Given the description of an element on the screen output the (x, y) to click on. 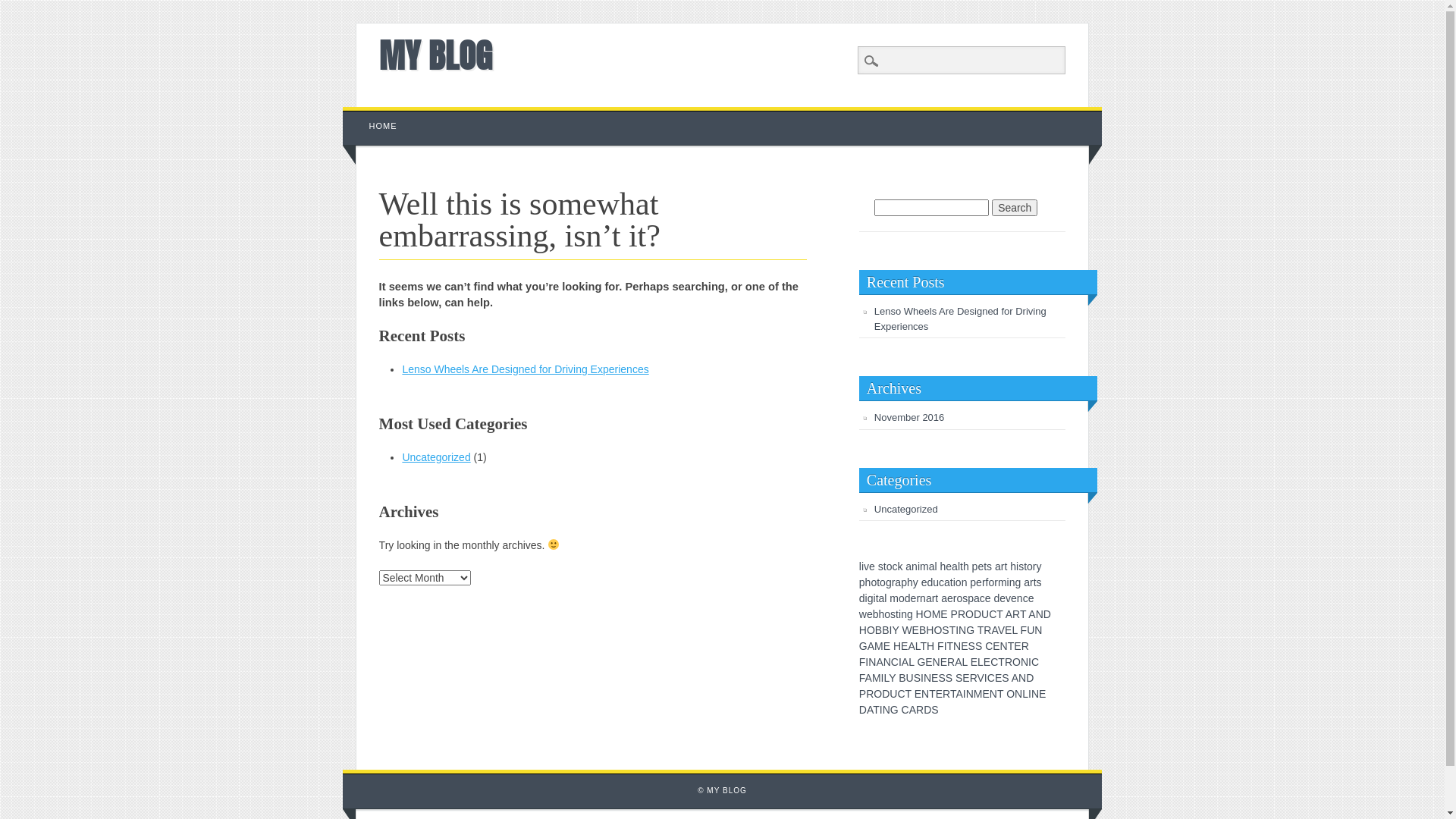
g Element type: text (888, 582)
P Element type: text (862, 693)
F Element type: text (862, 677)
M Element type: text (878, 646)
S Element type: text (948, 677)
r Element type: text (1031, 582)
l Element type: text (935, 566)
E Element type: text (943, 661)
R Element type: text (987, 630)
A Element type: text (904, 661)
E Element type: text (1007, 630)
r Element type: text (955, 598)
g Element type: text (1018, 582)
a Element type: text (997, 566)
A Element type: text (958, 693)
s Element type: text (988, 566)
F Element type: text (940, 646)
N Element type: text (1003, 646)
S Element type: text (916, 677)
e Element type: text (1031, 598)
s Element type: text (1038, 582)
Uncategorized Element type: text (906, 508)
T Element type: text (1000, 661)
A Element type: text (912, 709)
a Element type: text (928, 598)
G Element type: text (863, 646)
E Element type: text (985, 693)
B Element type: text (922, 630)
h Element type: text (881, 614)
c Element type: text (1025, 598)
U Element type: text (909, 677)
L Element type: text (885, 677)
D Element type: text (977, 614)
I Element type: text (921, 677)
I Element type: text (964, 693)
y Element type: text (915, 582)
E Element type: text (995, 646)
M Element type: text (977, 693)
C Element type: text (900, 693)
E Element type: text (917, 693)
m Element type: text (1002, 582)
c Element type: text (982, 598)
n Element type: text (903, 614)
n Element type: text (914, 566)
N Element type: text (1022, 677)
C Element type: text (905, 709)
m Element type: text (893, 598)
v Element type: text (1007, 598)
T Element type: text (953, 693)
n Element type: text (964, 582)
a Element type: text (881, 598)
w Element type: text (862, 614)
I Element type: text (1029, 661)
S Element type: text (944, 630)
e Element type: text (869, 614)
R Element type: text (1015, 614)
HOME Element type: text (383, 125)
h Element type: text (868, 582)
s Element type: text (1020, 566)
O Element type: text (927, 614)
A Element type: text (868, 677)
L Element type: text (910, 661)
MY BLOG Element type: text (435, 55)
S Element type: text (978, 646)
i Element type: text (866, 598)
t Element type: text (876, 598)
S Element type: text (1004, 677)
C Element type: text (1034, 661)
N Element type: text (1018, 693)
e Element type: text (913, 598)
D Element type: text (862, 709)
T Element type: text (999, 614)
a Element type: text (908, 566)
M Element type: text (936, 614)
Y Element type: text (891, 677)
T Element type: text (931, 693)
t Element type: text (1024, 566)
c Element type: text (894, 566)
T Element type: text (1000, 693)
i Element type: text (874, 598)
N Element type: text (993, 693)
I Element type: text (985, 677)
g Element type: text (909, 614)
N Element type: text (1024, 661)
e Element type: text (950, 598)
d Element type: text (862, 598)
Uncategorized Element type: text (435, 457)
t Element type: text (984, 566)
a Element type: text (1026, 582)
L Element type: text (964, 661)
e Element type: text (924, 582)
A Element type: text (870, 646)
S Element type: text (941, 677)
b Element type: text (875, 614)
a Element type: text (897, 582)
E Element type: text (915, 630)
G Element type: text (894, 709)
N Element type: text (962, 630)
H Element type: text (896, 646)
L Element type: text (917, 646)
R Element type: text (973, 677)
O Element type: text (937, 630)
O Element type: text (870, 630)
E Element type: text (965, 677)
d Element type: text (907, 598)
B Element type: text (884, 630)
B Element type: text (878, 630)
O Element type: text (1016, 661)
D Element type: text (927, 709)
I Element type: text (889, 630)
M Element type: text (876, 677)
F Element type: text (862, 661)
G Element type: text (970, 630)
o Element type: text (1029, 566)
e Element type: text (948, 566)
T Element type: text (875, 709)
F Element type: text (1023, 630)
n Element type: text (922, 598)
i Element type: text (1008, 582)
T Element type: text (908, 693)
o Element type: text (882, 582)
U Element type: text (893, 693)
H Element type: text (930, 646)
e Element type: text (980, 566)
r Element type: text (995, 582)
N Element type: text (936, 661)
p Element type: text (862, 582)
E Element type: text (986, 661)
e Element type: text (978, 582)
R Element type: text (1025, 646)
C Element type: text (988, 646)
a Element type: text (947, 582)
R Element type: text (946, 693)
t Element type: text (877, 582)
l Element type: text (860, 566)
t Element type: text (1005, 566)
m Element type: text (923, 566)
t Element type: text (961, 566)
e Element type: text (1013, 598)
V Element type: text (1000, 630)
T Element type: text (952, 630)
o Element type: text (887, 614)
B Element type: text (901, 677)
E Element type: text (1041, 693)
I Element type: text (880, 709)
A Element type: text (994, 630)
o Element type: text (991, 582)
s Element type: text (892, 614)
N Element type: text (886, 709)
t Element type: text (896, 614)
r Element type: text (983, 582)
T Element type: text (923, 646)
E Element type: text (928, 661)
T Element type: text (950, 646)
H Element type: text (929, 630)
p Element type: text (903, 582)
u Element type: text (935, 582)
N Element type: text (1037, 630)
l Element type: text (958, 566)
L Element type: text (1013, 630)
C Element type: text (990, 677)
a Element type: text (944, 598)
r Element type: text (893, 582)
h Element type: text (943, 566)
k Element type: text (899, 566)
i Element type: text (899, 614)
t Element type: text (951, 582)
E Element type: text (973, 661)
i Element type: text (918, 566)
A Element type: text (1008, 614)
e Element type: text (872, 566)
T Element type: text (980, 630)
N Element type: text (887, 661)
i Element type: text (954, 582)
r Element type: text (917, 598)
I Element type: text (945, 646)
S Element type: text (971, 646)
R Element type: text (961, 614)
o Element type: text (873, 582)
o Element type: text (901, 598)
O Element type: text (877, 693)
I Element type: text (899, 661)
H Element type: text (919, 614)
U Element type: text (984, 614)
E Element type: text (963, 646)
A Element type: text (878, 661)
Lenso Wheels Are Designed for Driving Experiences Element type: text (524, 369)
C Element type: text (894, 661)
p Element type: text (975, 566)
n Element type: text (1012, 582)
N Element type: text (1034, 693)
A Element type: text (1031, 614)
d Element type: text (996, 598)
r Element type: text (933, 598)
N Element type: text (924, 693)
a Element type: text (954, 566)
N Element type: text (1039, 614)
R Element type: text (919, 709)
A Element type: text (910, 646)
O Element type: text (1010, 693)
l Element type: text (885, 598)
N Element type: text (871, 661)
November 2016 Element type: text (909, 417)
y Element type: text (1038, 566)
a Element type: text (976, 598)
s Element type: text (880, 566)
N Element type: text (956, 646)
H Element type: text (862, 630)
h Element type: text (1013, 566)
A Element type: text (869, 709)
i Element type: text (862, 566)
R Element type: text (1008, 661)
C Element type: text (992, 614)
A Element type: text (957, 661)
E Element type: text (943, 614)
Search Element type: text (22, 8)
o Element type: text (959, 598)
L Element type: text (1025, 693)
E Element type: text (997, 677)
T Element type: text (1022, 614)
p Element type: text (970, 598)
p Element type: text (972, 582)
a Element type: text (931, 566)
G Element type: text (920, 661)
P Element type: text (953, 614)
I Element type: text (1029, 693)
h Element type: text (909, 582)
v Element type: text (866, 566)
I Element type: text (866, 661)
D Element type: text (1029, 677)
R Element type: text (869, 693)
V Element type: text (980, 677)
e Element type: text (1002, 598)
D Element type: text (1047, 614)
g Element type: text (870, 598)
i Element type: text (1017, 566)
O Element type: text (969, 614)
r Element type: text (1034, 566)
I Element type: text (956, 630)
n Element type: text (1019, 598)
S Element type: text (934, 709)
o Element type: text (889, 566)
h Element type: text (966, 566)
A Element type: text (1014, 677)
T Element type: text (1010, 646)
Search Element type: text (1014, 207)
r Element type: text (1002, 566)
R Element type: text (950, 661)
N Element type: text (969, 693)
U Element type: text (1030, 630)
E Element type: text (938, 693)
I Element type: text (882, 677)
S Element type: text (958, 677)
t Element type: text (1034, 582)
C Element type: text (993, 661)
E Element type: text (934, 677)
Skip to content Element type: text (377, 114)
e Element type: text (988, 598)
E Element type: text (1016, 646)
D Element type: text (885, 693)
N Element type: text (927, 677)
L Element type: text (980, 661)
Y Element type: text (894, 630)
f Element type: text (986, 582)
E Element type: text (903, 646)
t Element type: text (884, 566)
t Element type: text (936, 598)
E Element type: text (886, 646)
W Element type: text (906, 630)
c Element type: text (941, 582)
s Element type: text (964, 598)
d Element type: text (929, 582)
Lenso Wheels Are Designed for Driving Experiences Element type: text (960, 318)
o Element type: text (958, 582)
